Given the description of an element on the screen output the (x, y) to click on. 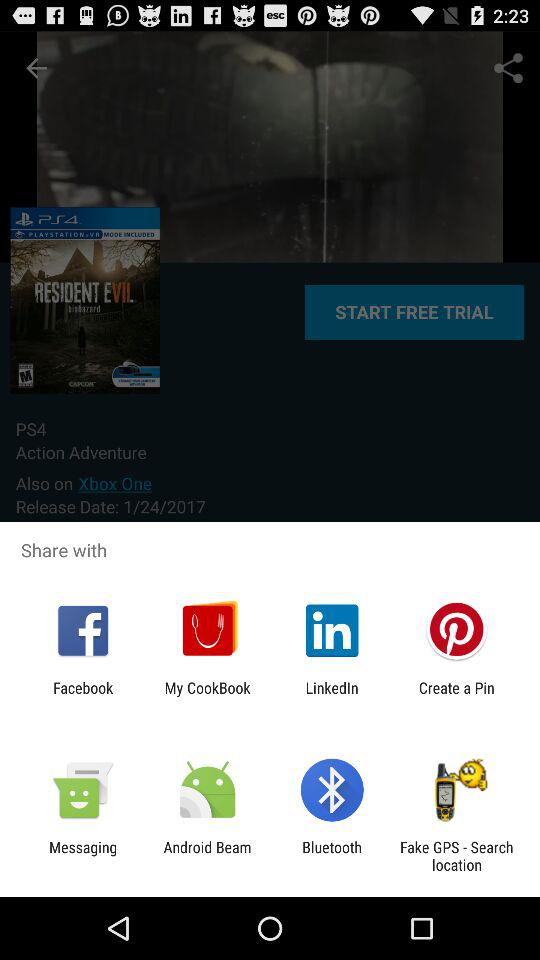
turn on icon next to the bluetooth item (456, 856)
